Given the description of an element on the screen output the (x, y) to click on. 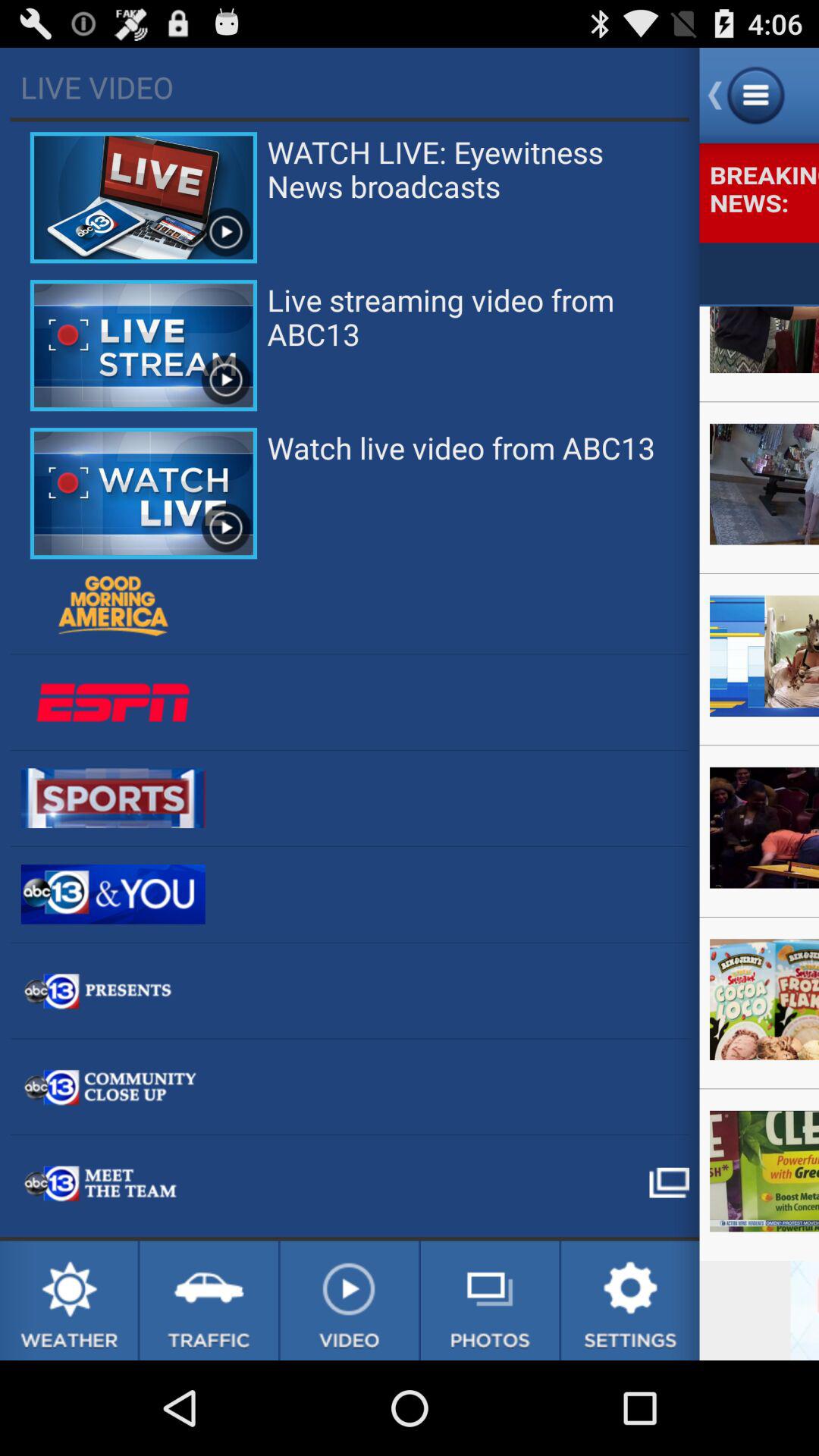
photo feed (489, 1300)
